Given the description of an element on the screen output the (x, y) to click on. 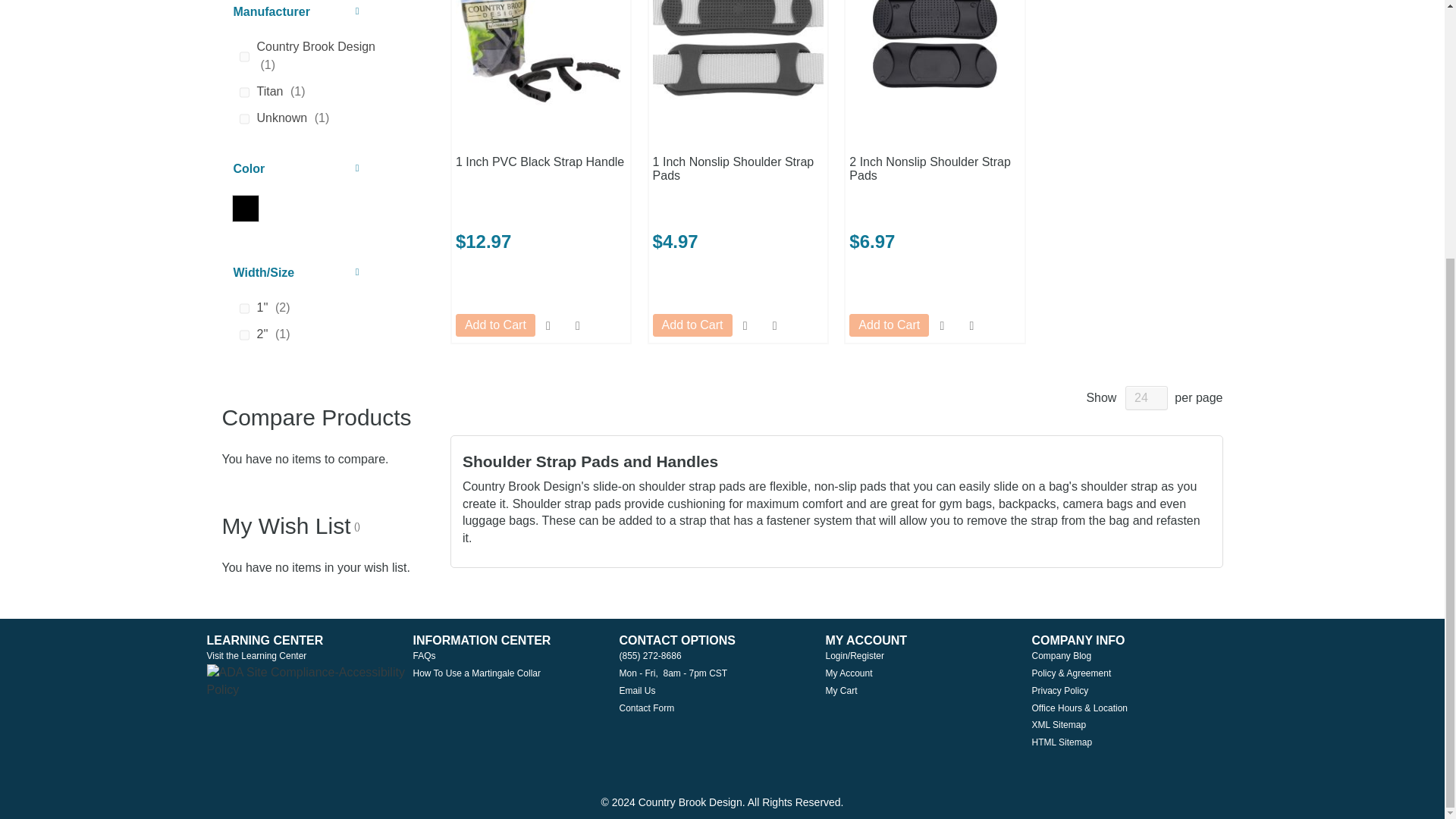
Add to Wish List (745, 325)
Add to Wish List (548, 325)
Add to Cart (888, 324)
Add to Cart (495, 324)
Add to Compare (774, 325)
Add to Cart (692, 324)
Add to Compare (971, 325)
Add to Compare (577, 325)
Add to Wish List (941, 325)
